Given the description of an element on the screen output the (x, y) to click on. 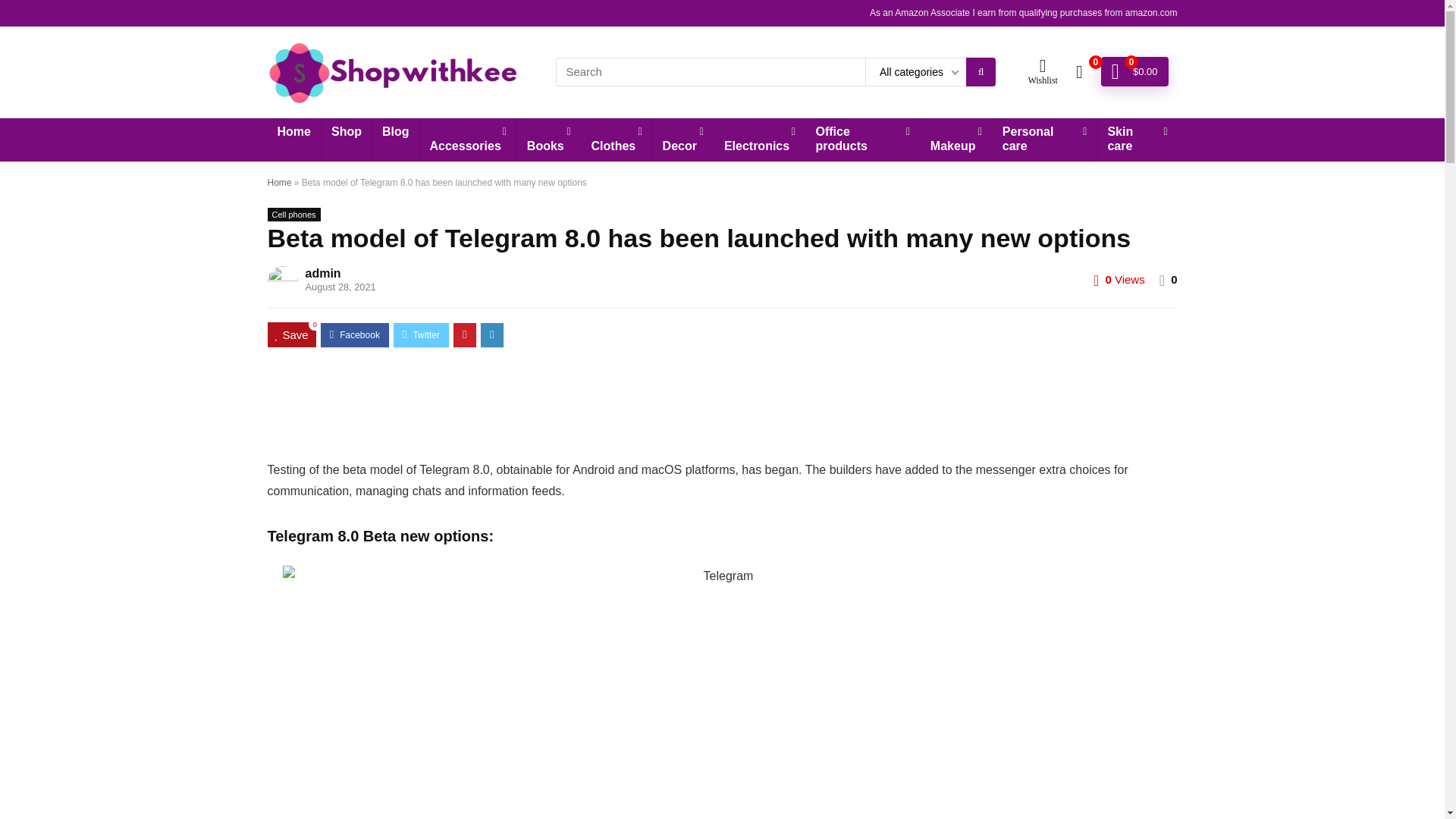
Shop (346, 132)
Clothes (616, 139)
Accessories (468, 139)
Blog (395, 132)
Decor (682, 139)
Electronics (759, 139)
View all posts in Cell phones (293, 214)
Home (293, 132)
Books (548, 139)
